Given the description of an element on the screen output the (x, y) to click on. 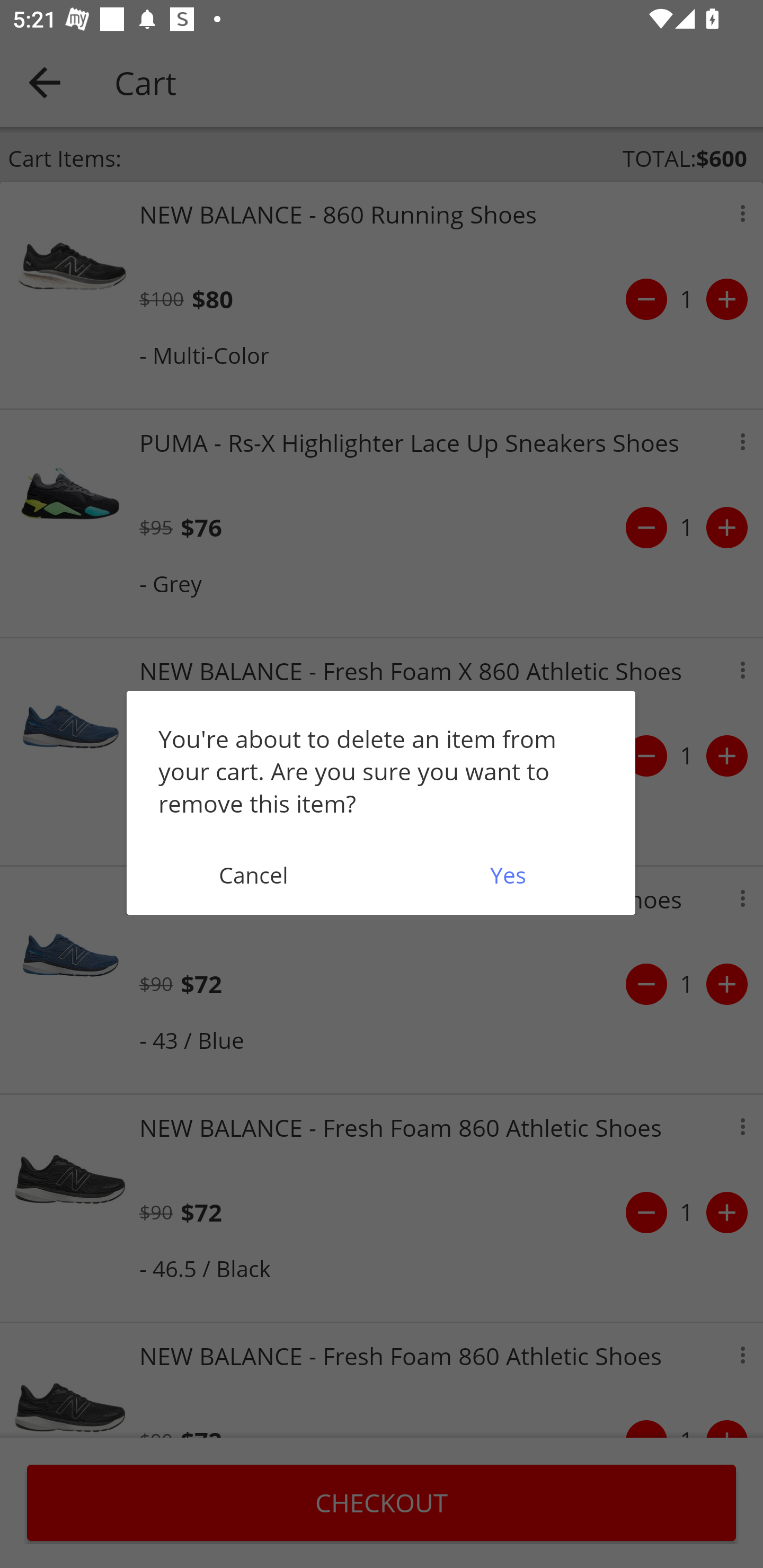
Cancel (253, 874)
Yes (507, 874)
